Given the description of an element on the screen output the (x, y) to click on. 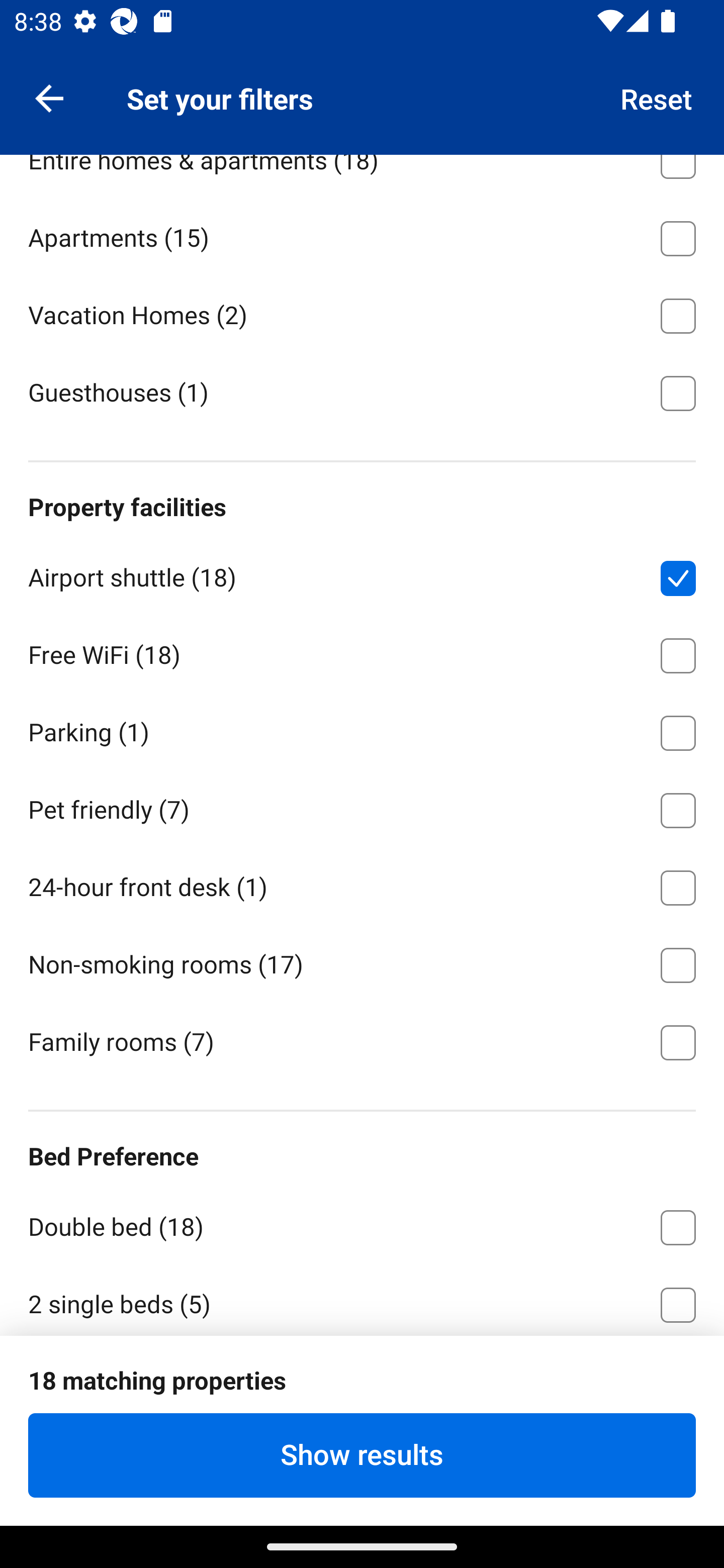
Navigate up (49, 97)
Reset (656, 97)
Entire homes & apartments ⁦(18) (361, 175)
Apartments ⁦(15) (361, 235)
Vacation Homes ⁦(2) (361, 312)
Guesthouses ⁦(1) (361, 391)
Airport shuttle ⁦(18) (361, 574)
Free WiFi ⁦(18) (361, 652)
Parking ⁦(1) (361, 729)
Pet friendly ⁦(7) (361, 806)
24-hour front desk ⁦(1) (361, 884)
Non-smoking rooms ⁦(17) (361, 961)
Family rooms ⁦(7) (361, 1040)
Double bed ⁦(18) (361, 1223)
2 single beds ⁦(5) (361, 1298)
Show results (361, 1454)
